Given the description of an element on the screen output the (x, y) to click on. 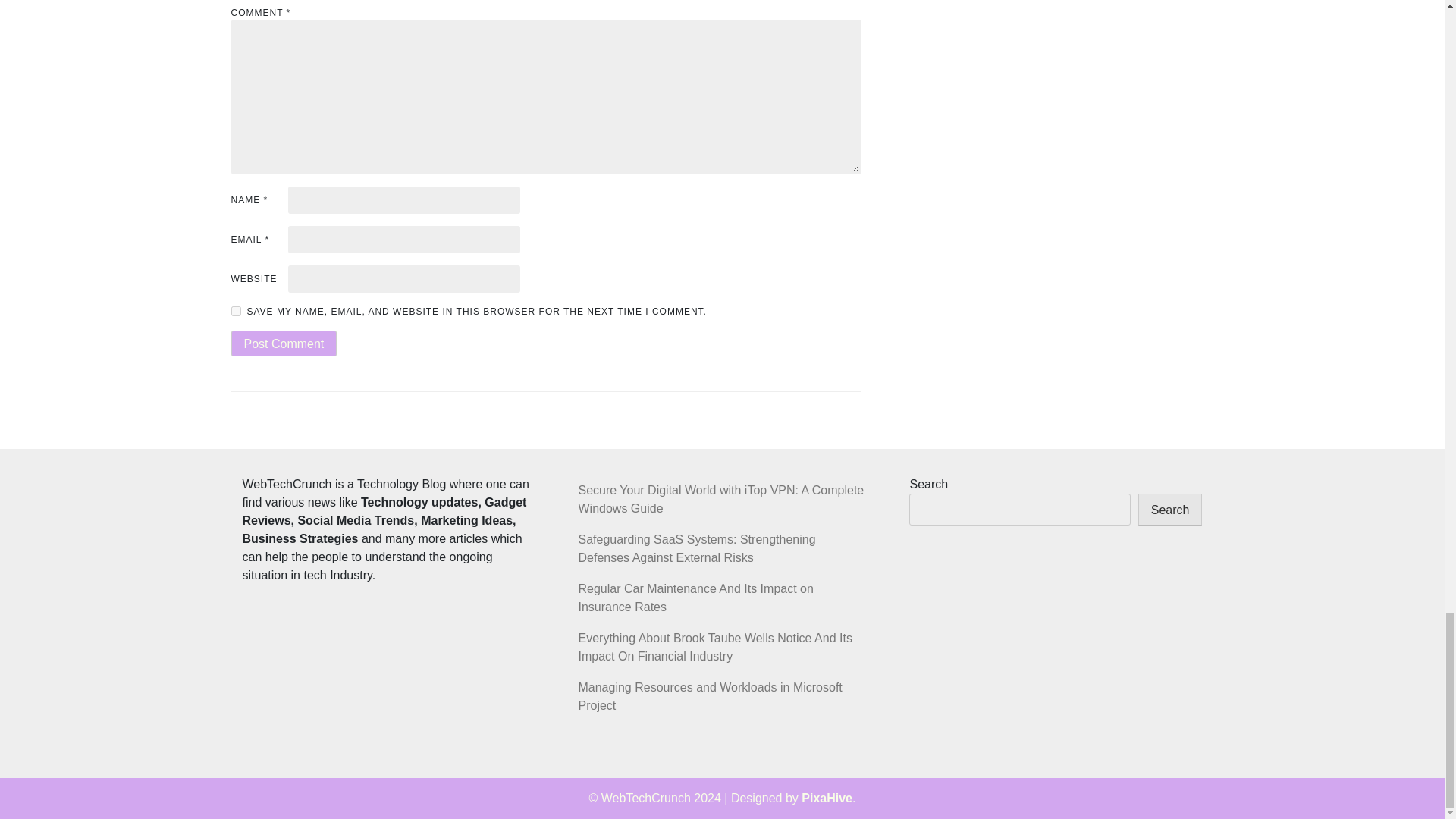
yes (235, 311)
Post Comment (283, 343)
